Given the description of an element on the screen output the (x, y) to click on. 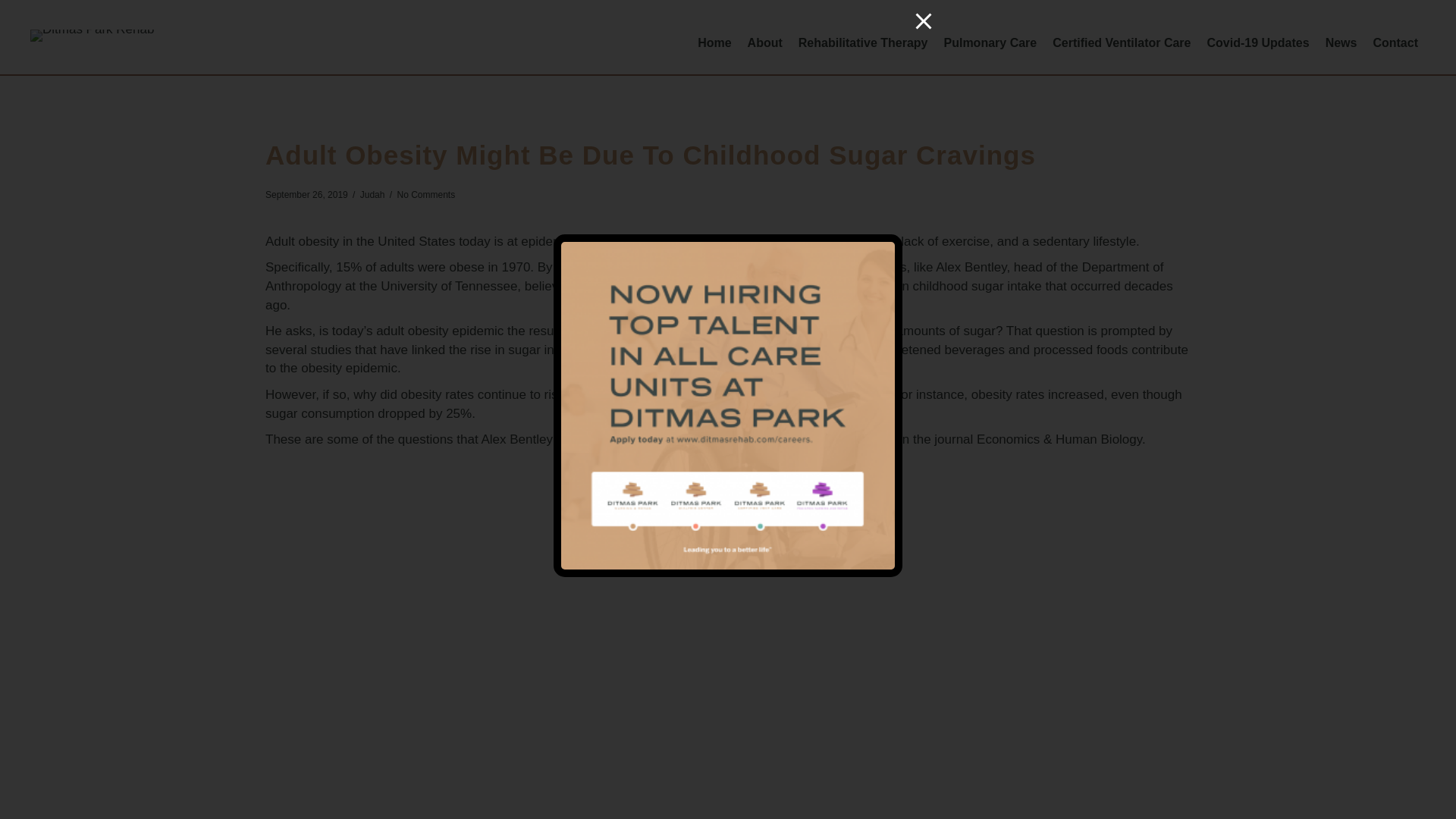
About (764, 42)
Certified Ventilator Care (1121, 42)
Home (714, 42)
Contact (1395, 42)
Covid-19 Updates (1258, 42)
No Comments (425, 194)
Rehabilitative Therapy (863, 42)
Ditmas Park Rehab (92, 35)
News (1341, 42)
Judah (372, 194)
